Given the description of an element on the screen output the (x, y) to click on. 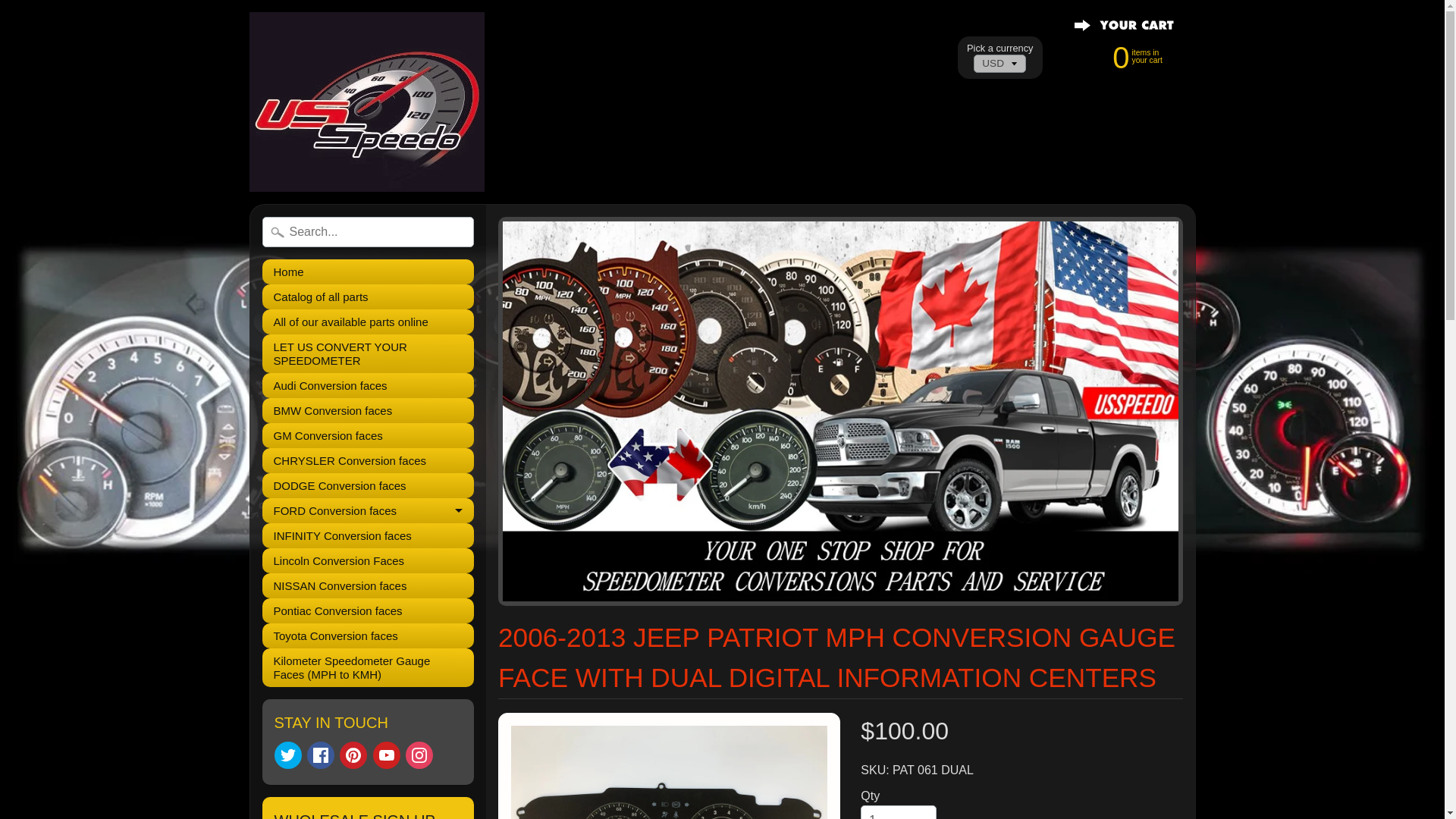
FORD Conversion faces (368, 510)
Pontiac Conversion faces (368, 610)
Home (368, 271)
1 (898, 812)
GM Conversion faces (1122, 56)
LET US CONVERT YOUR SPEEDOMETER (368, 435)
Pinterest (368, 353)
NISSAN Conversion faces (352, 755)
INFINITY Conversion faces (368, 585)
DODGE Conversion faces (368, 535)
Facebook (368, 485)
Twitter (320, 755)
Lincoln Conversion Faces (288, 755)
Youtube (368, 560)
